Given the description of an element on the screen output the (x, y) to click on. 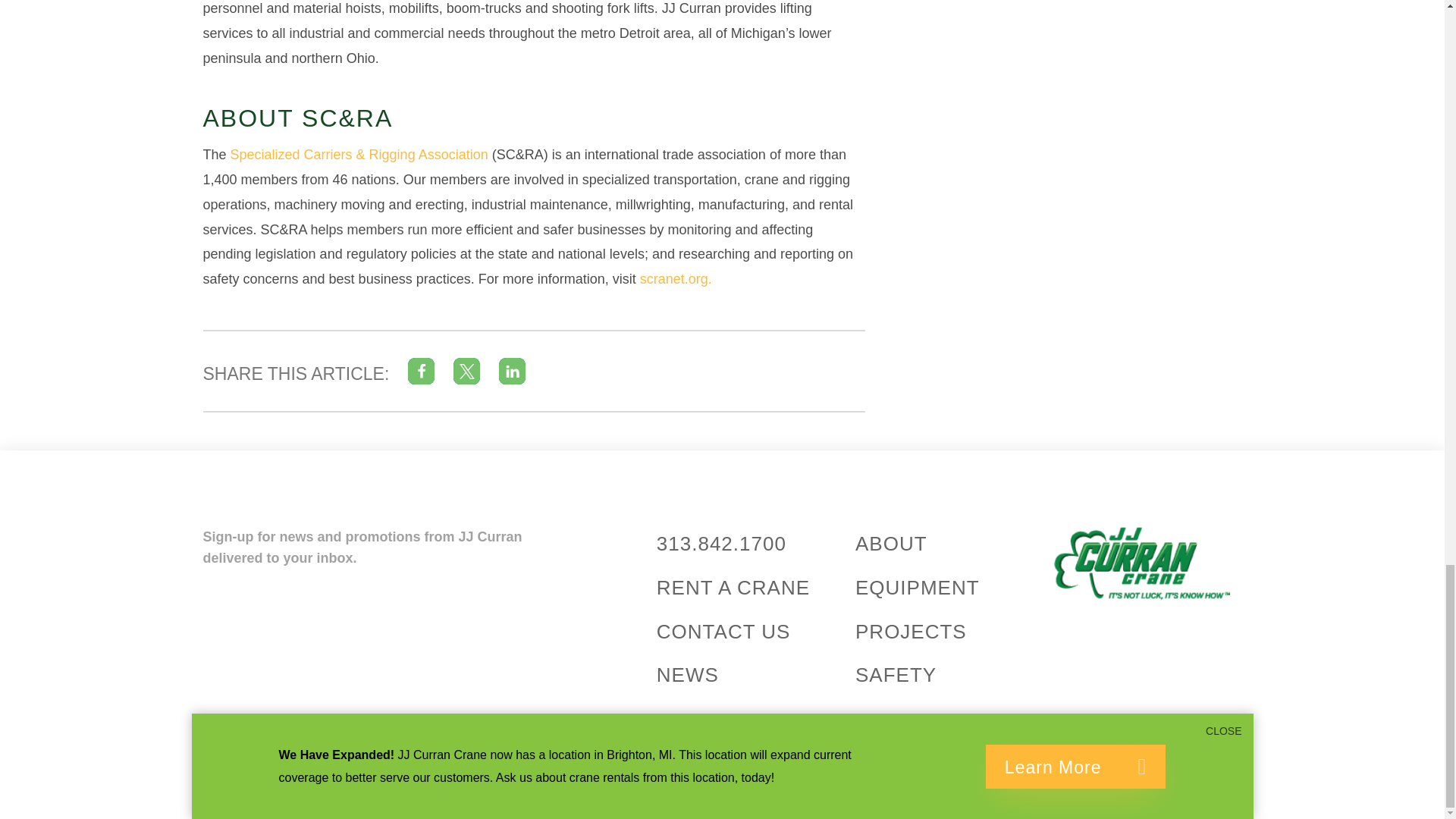
313.842.1700 (721, 543)
RENT A CRANE (732, 587)
EQUIPMENT (917, 587)
scranet.org. (675, 278)
Sitemap (414, 787)
Privacy Policy (488, 787)
Share on Facebook (420, 370)
SAFETY (896, 674)
Share on X (466, 370)
ABOUT (891, 543)
PROJECTS (911, 630)
CONTACT US (723, 630)
Share on LinkedIn (512, 370)
NEWS (687, 674)
